Given the description of an element on the screen output the (x, y) to click on. 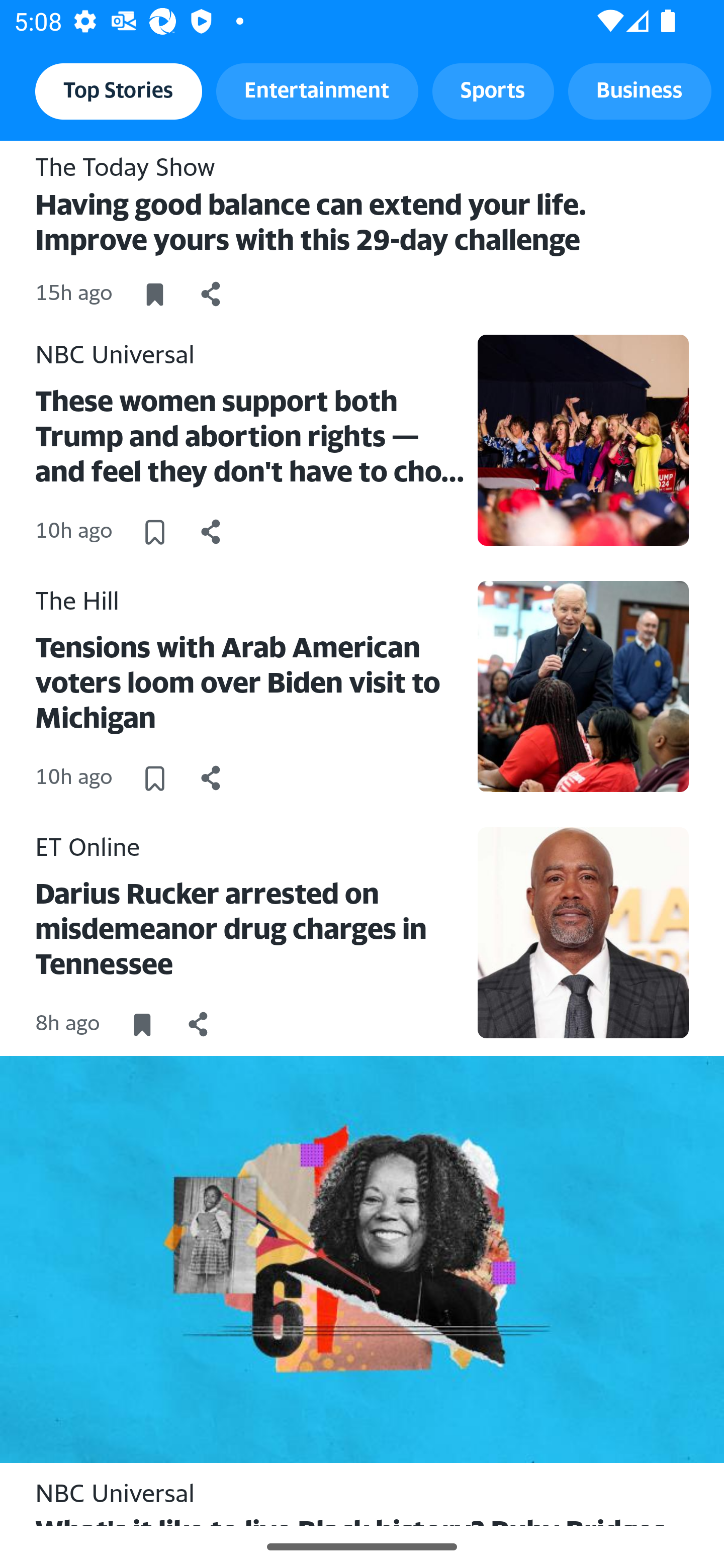
Entertainment (317, 90)
Sports (492, 90)
Business (639, 90)
Remove this article from your saved list (154, 293)
Share this news article (210, 293)
Save this article (154, 531)
Share this news article (210, 531)
Save this article (154, 777)
Share this news article (210, 777)
Remove this article from your saved list (142, 1023)
Share this news article (198, 1023)
